Given the description of an element on the screen output the (x, y) to click on. 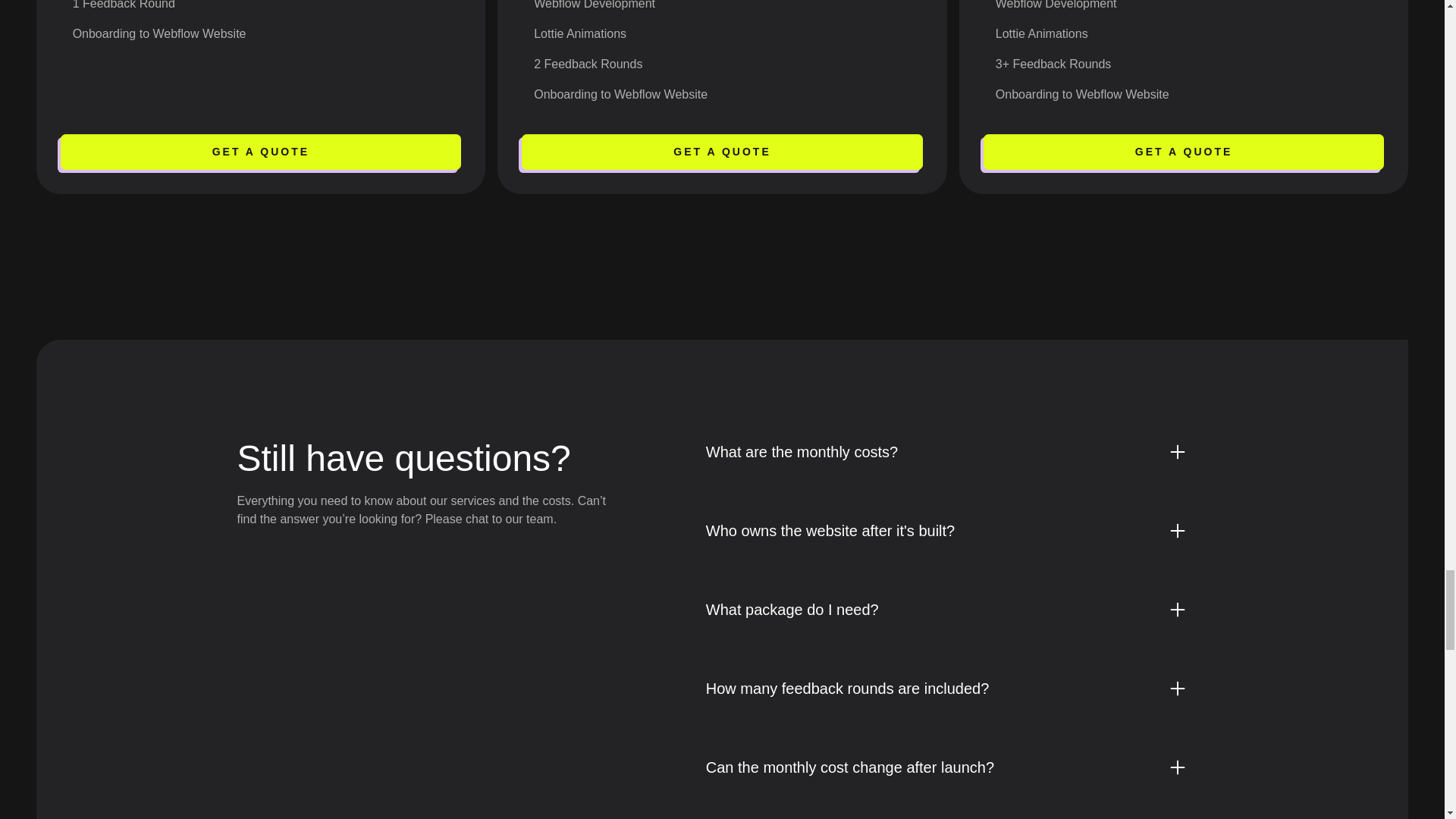
GET A QUOTE (261, 151)
GET A QUOTE (1184, 151)
GET A QUOTE (722, 151)
